Given the description of an element on the screen output the (x, y) to click on. 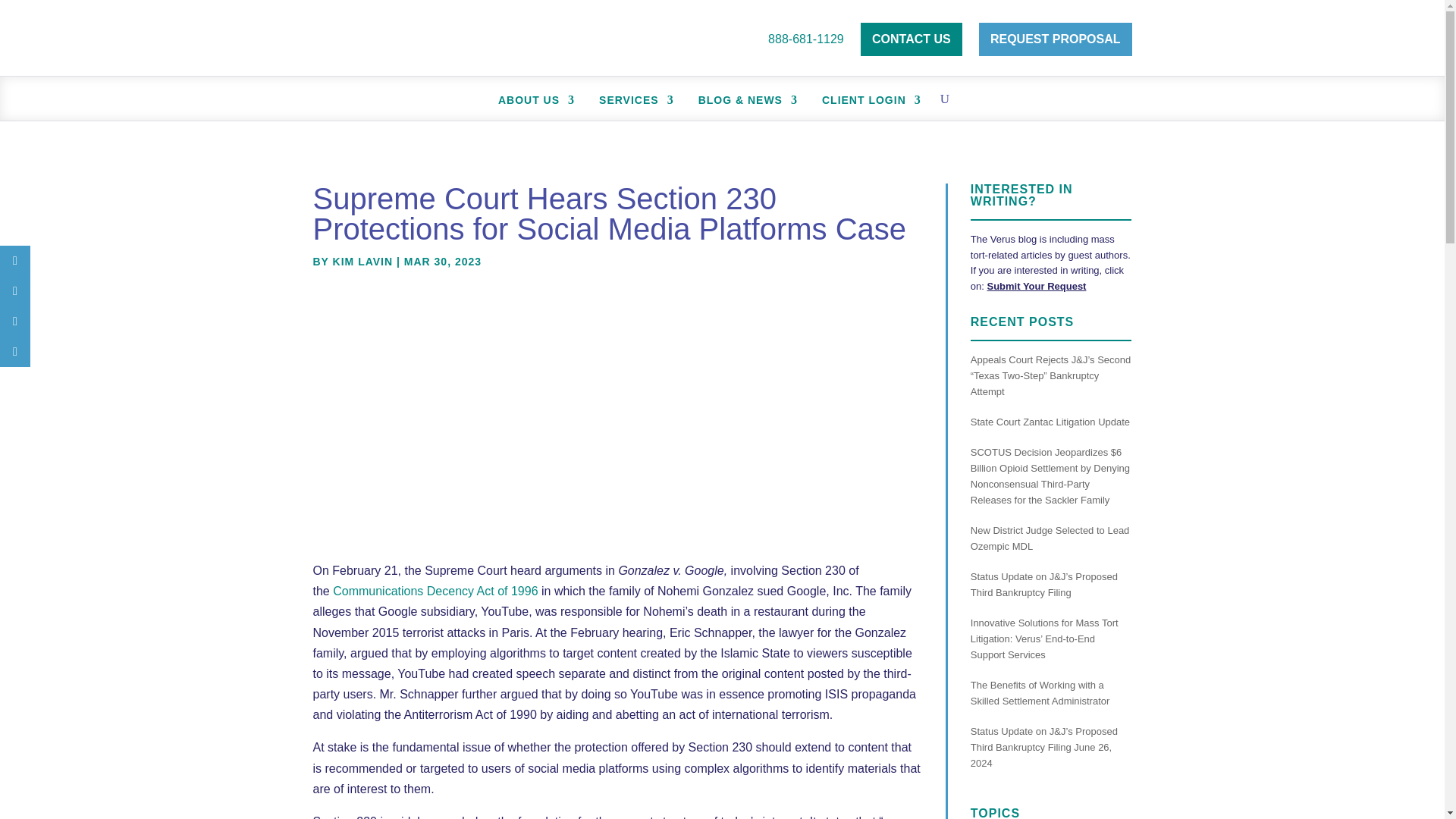
Verus-logo-web (385, 39)
CLIENT LOGIN (863, 102)
SERVICES (628, 102)
Posts by Kim Lavin (363, 261)
REQUEST PROPOSAL (1055, 38)
CONTACT US (911, 38)
 888-681-1129 (799, 38)
ABOUT US (528, 102)
